Given the description of an element on the screen output the (x, y) to click on. 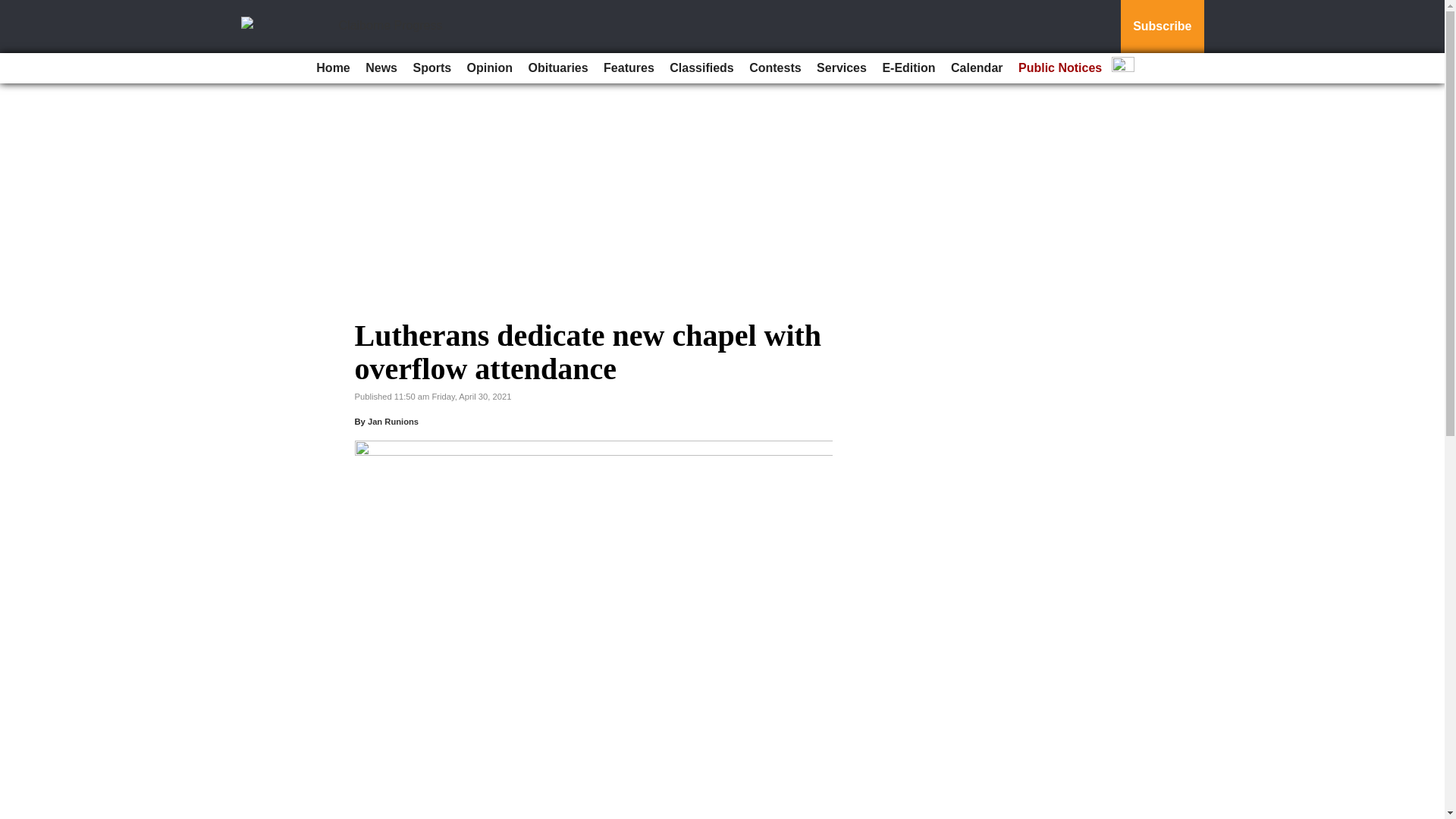
Home (332, 68)
E-Edition (908, 68)
Sports (431, 68)
Go (13, 9)
Opinion (489, 68)
Jan Runions (393, 420)
News (381, 68)
Obituaries (557, 68)
Public Notices (1059, 68)
Subscribe (1162, 26)
